Given the description of an element on the screen output the (x, y) to click on. 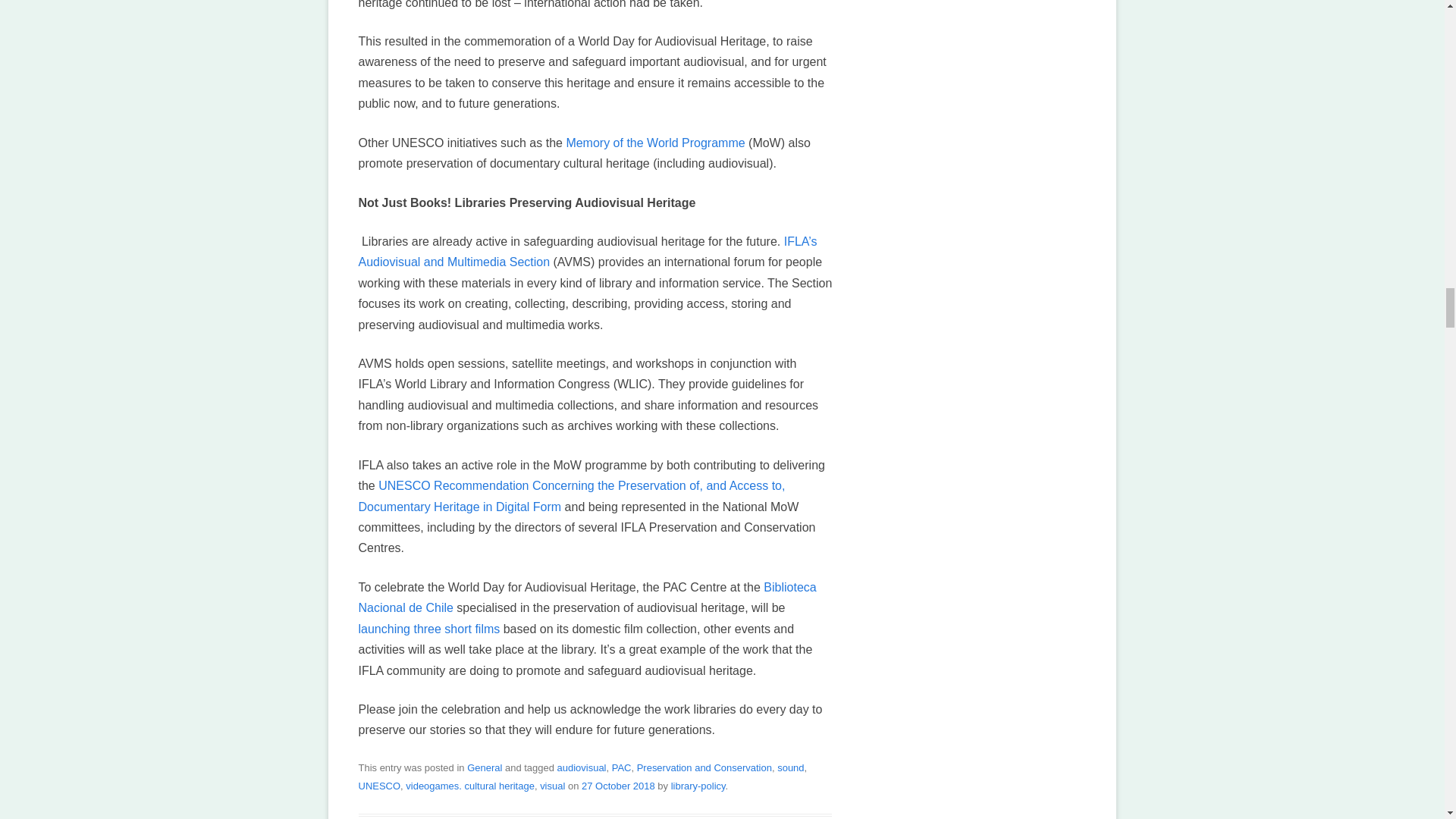
14:00 (617, 785)
View all posts by library-policy (698, 785)
